Given the description of an element on the screen output the (x, y) to click on. 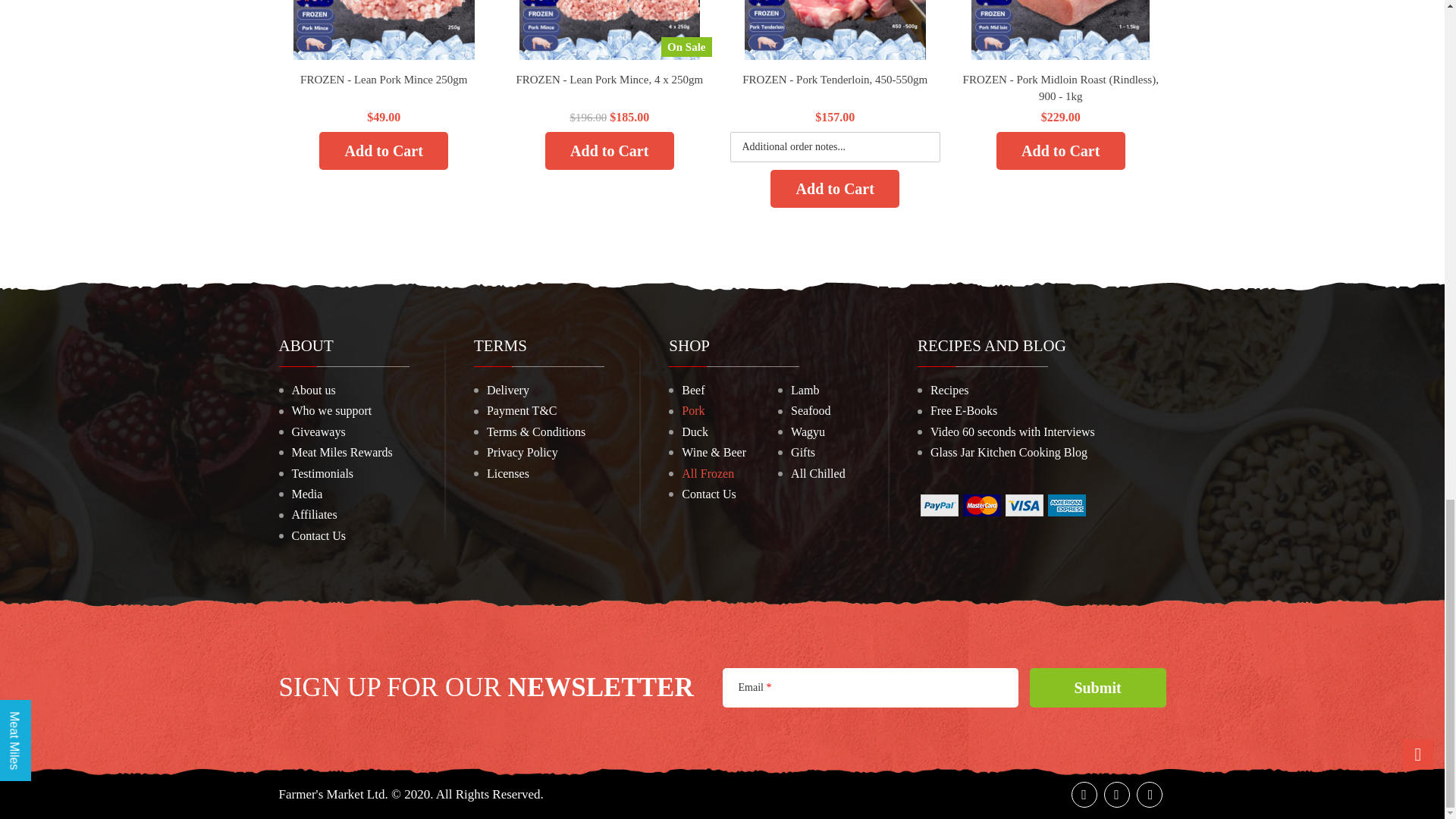
Farmers Market HK on Facebook (1083, 794)
Farmers Market HK on Instagram (1148, 794)
Farmers Market HK on Youtube (1116, 794)
